Given the description of an element on the screen output the (x, y) to click on. 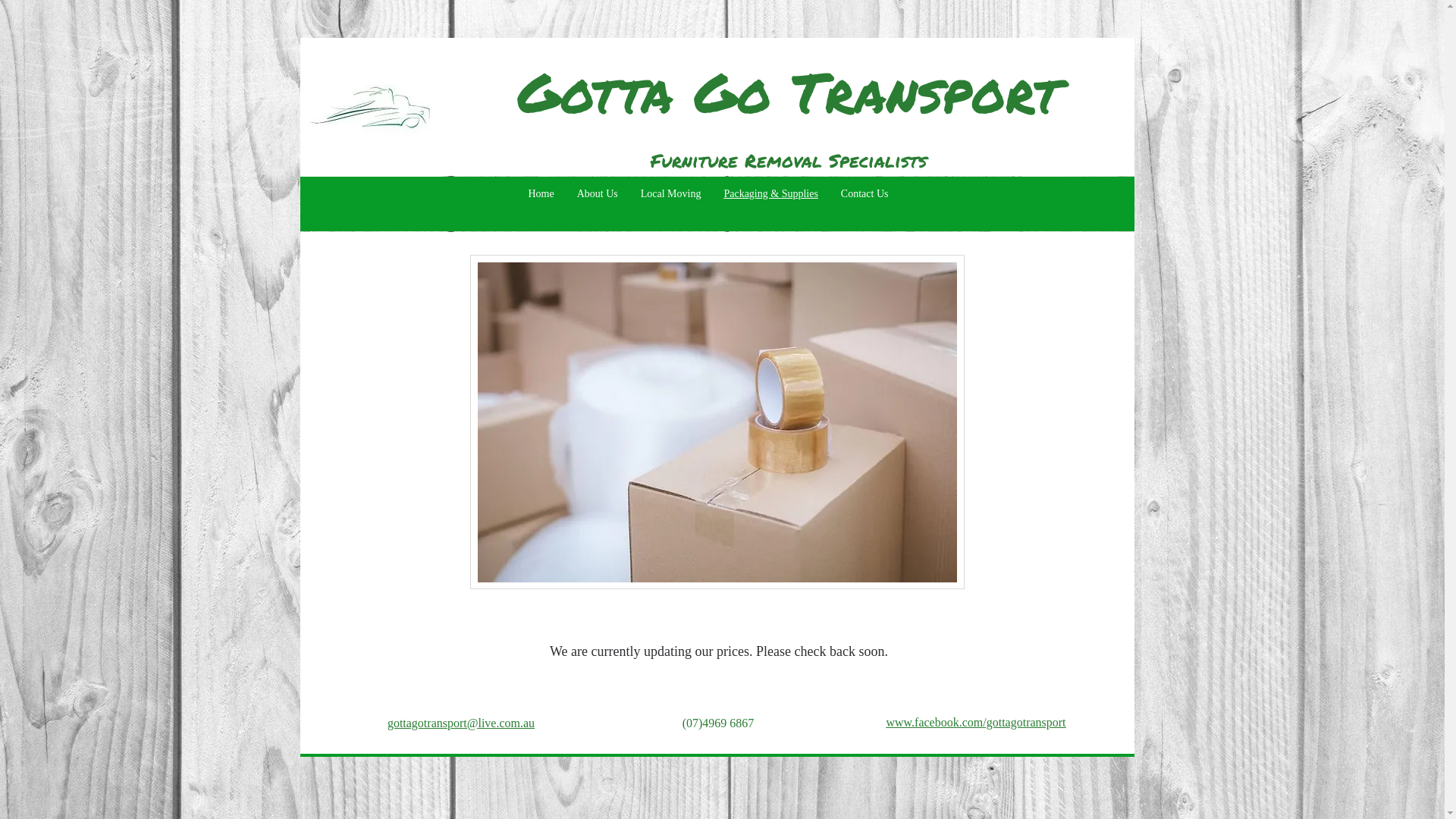
Local Moving Element type: text (670, 193)
gottagotransport@live.com.au Element type: text (460, 722)
About Us Element type: text (597, 193)
Contact Us Element type: text (864, 193)
www.facebook.com/gottagotransport Element type: text (975, 721)
Packaging & Supplies Element type: text (770, 193)
Home Element type: text (541, 193)
